Given the description of an element on the screen output the (x, y) to click on. 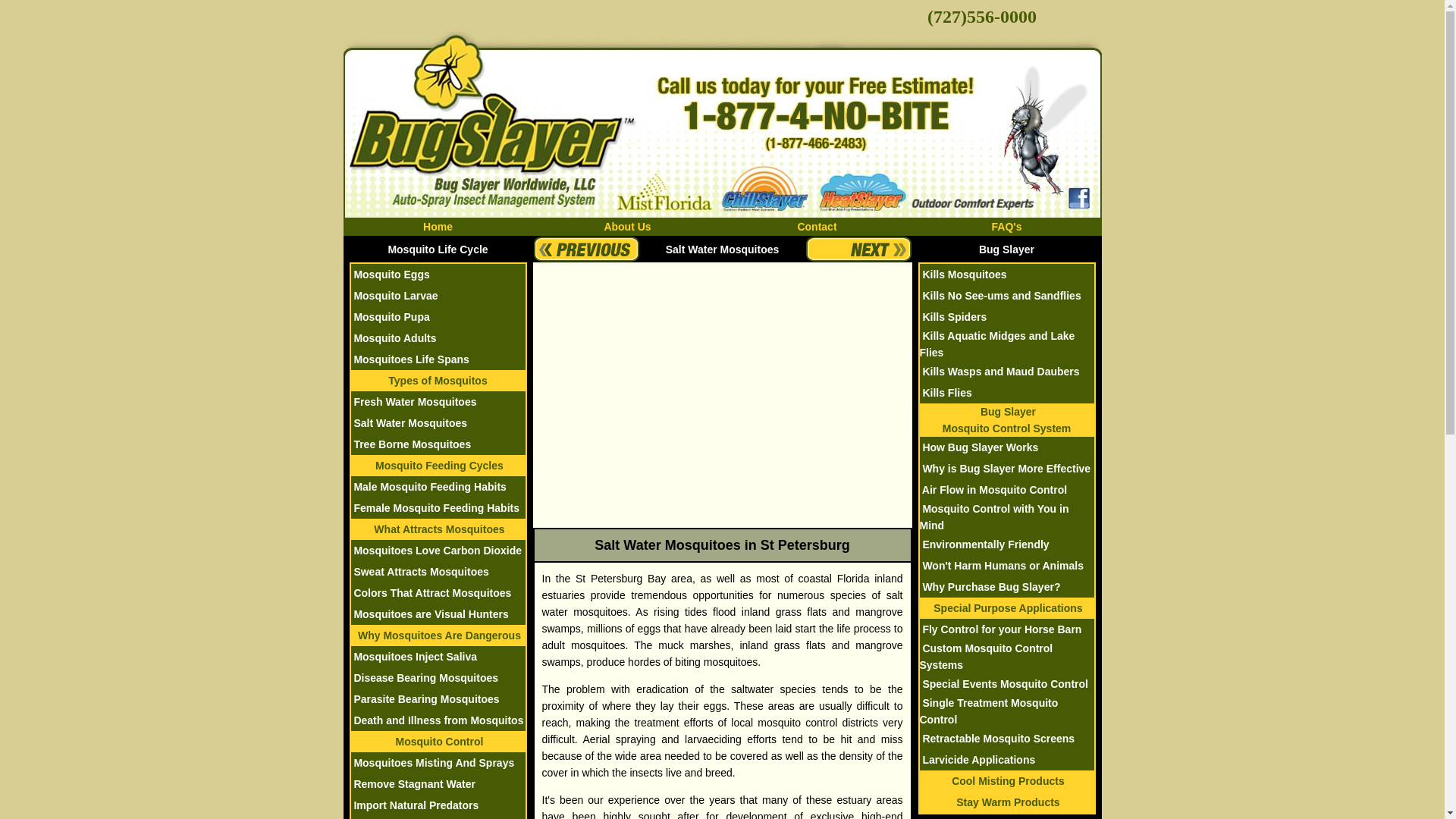
 Mosquito Feeding Cycles (437, 465)
 Female Mosquito Feeding Habits (434, 508)
 Mosquito Control (438, 741)
 Mosquitoes Misting And Sprays (431, 762)
 Death and Illness from Mosquitos (436, 720)
 Disease Bearing Mosquitoes (423, 677)
 Fresh Water Mosquitoes (413, 401)
 Mosquito Pupa (389, 316)
About Us (627, 226)
 Mosquito Eggs (389, 274)
